Given the description of an element on the screen output the (x, y) to click on. 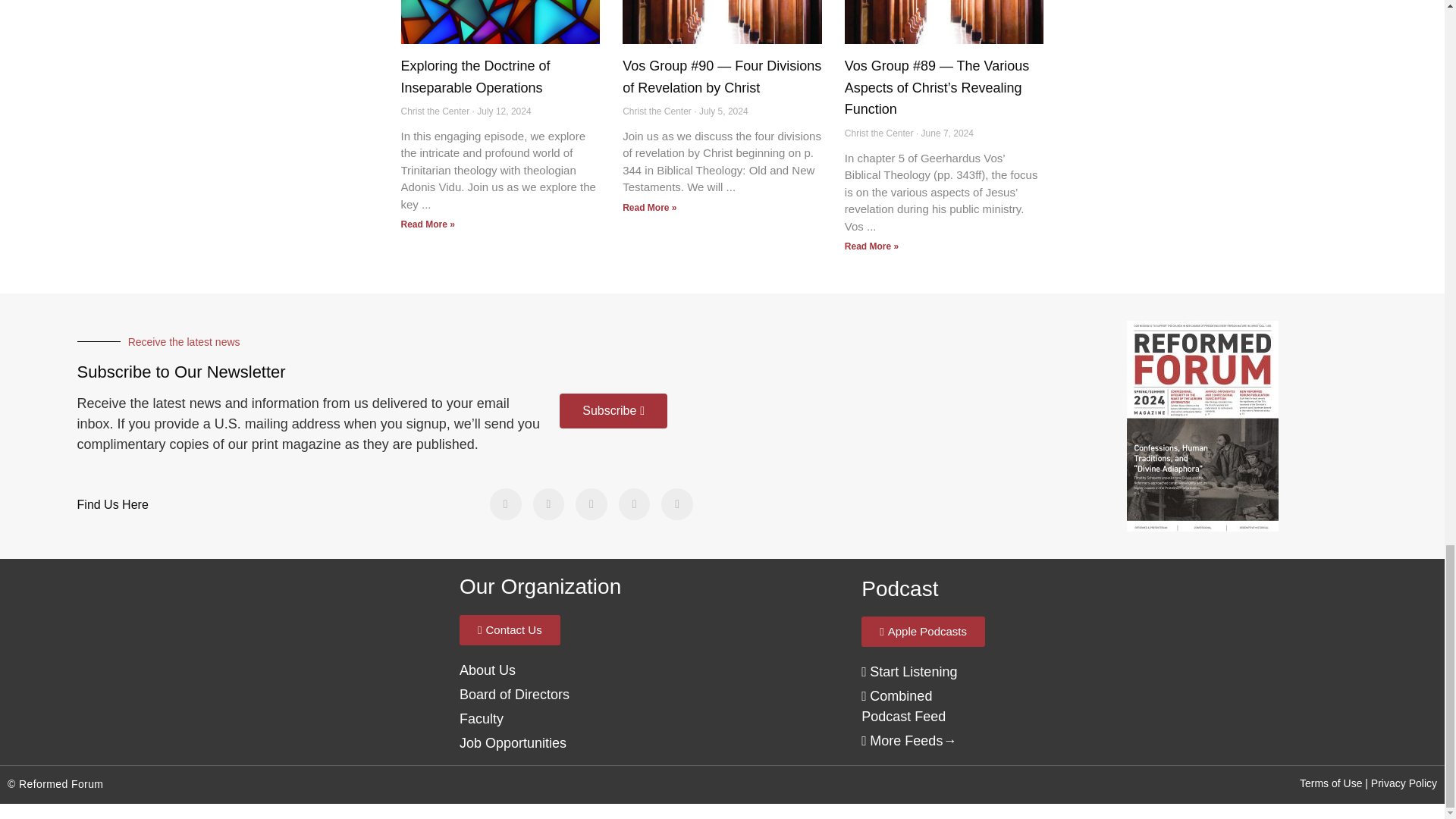
Podcast Feed (908, 671)
More Feeds (901, 740)
About Us (487, 670)
Faculty (481, 718)
About Us (514, 694)
Podcast Feed (902, 705)
